Given the description of an element on the screen output the (x, y) to click on. 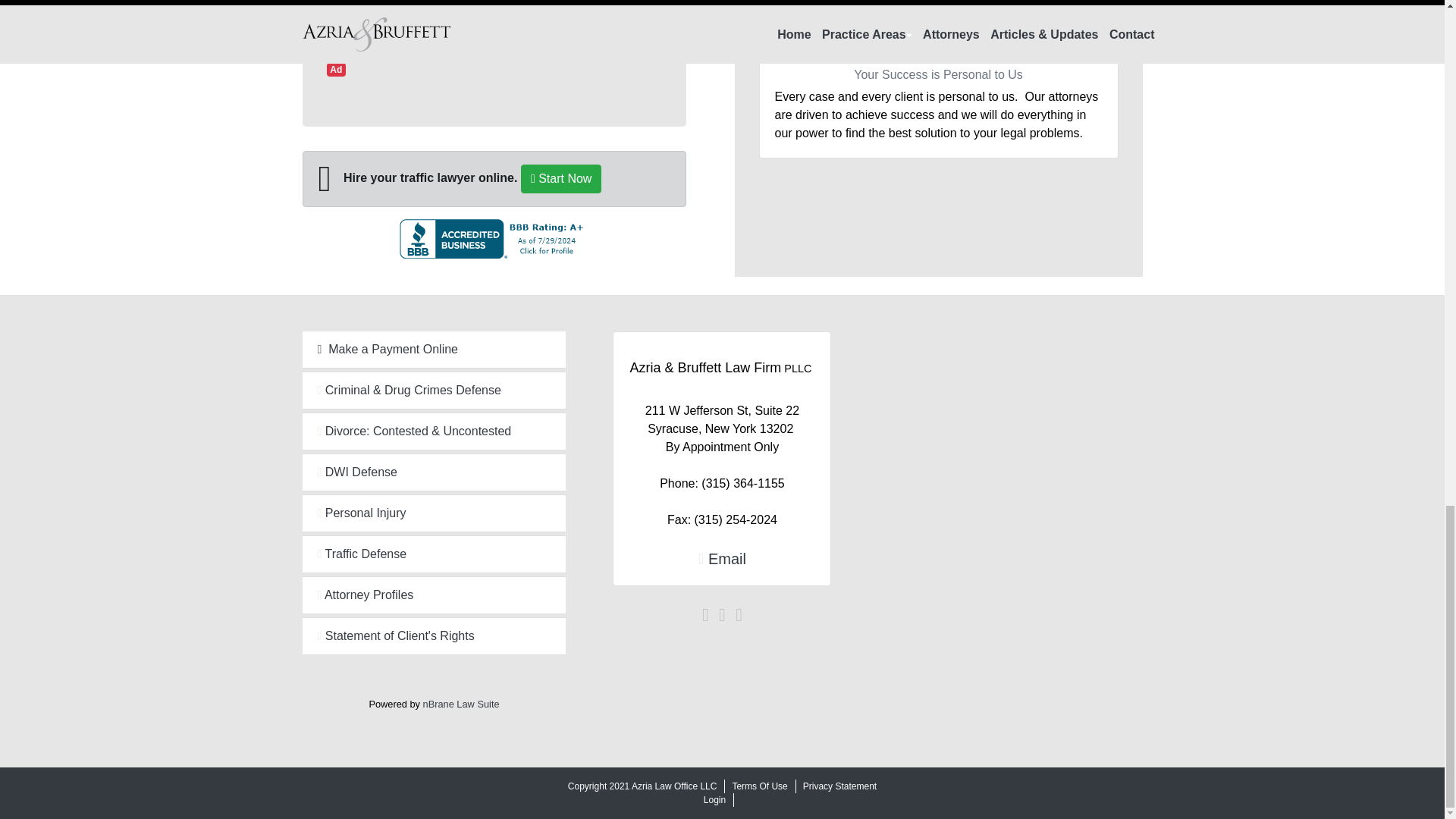
Login (714, 799)
